Given the description of an element on the screen output the (x, y) to click on. 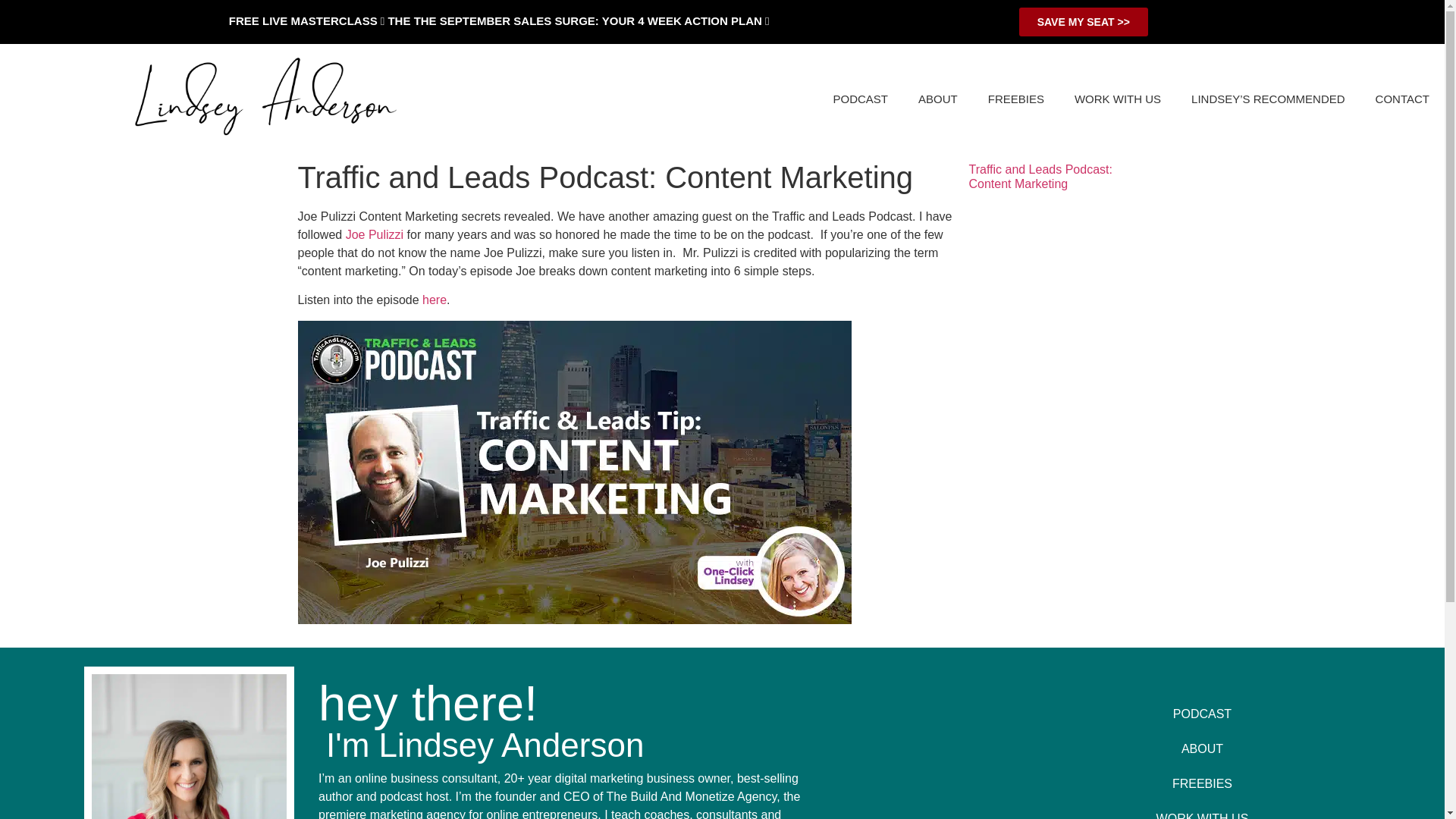
Joe Pulizzi (374, 234)
ABOUT (1202, 749)
here (434, 299)
ABOUT (937, 99)
PODCAST (1202, 714)
FREEBIES (1202, 783)
Traffic and Leads Podcast: Content Marketing (1040, 176)
WORK WITH US (1117, 99)
FREEBIES (1015, 99)
PODCAST (861, 99)
